Given the description of an element on the screen output the (x, y) to click on. 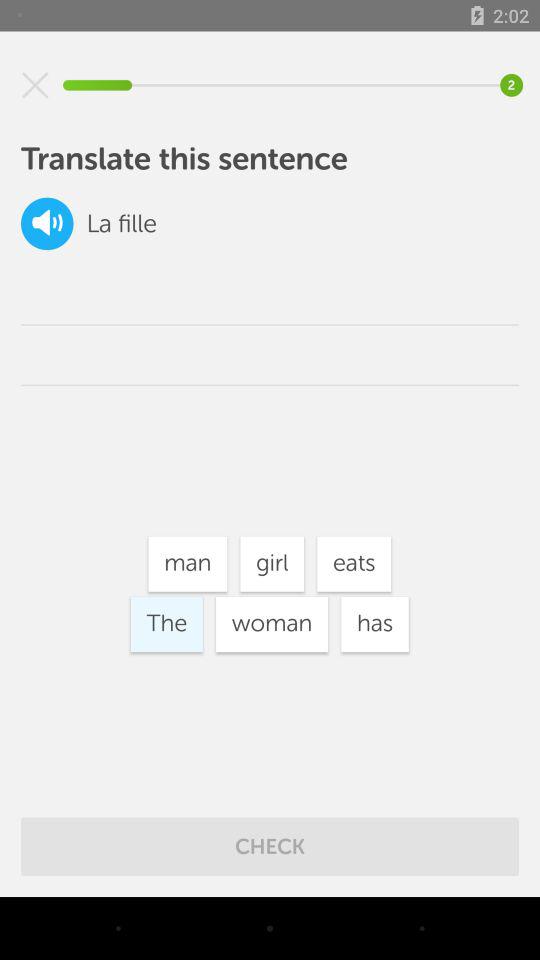
press the icon below the eats item (374, 624)
